Given the description of an element on the screen output the (x, y) to click on. 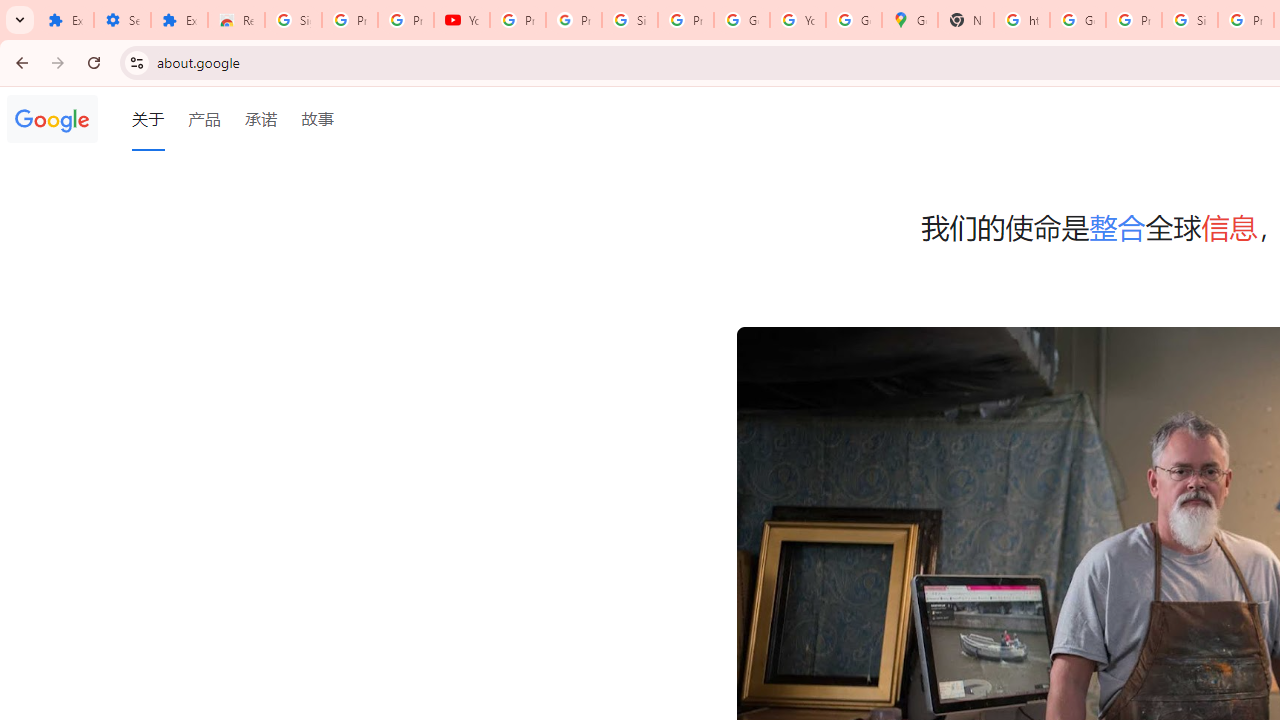
Google Maps (909, 20)
